Given the description of an element on the screen output the (x, y) to click on. 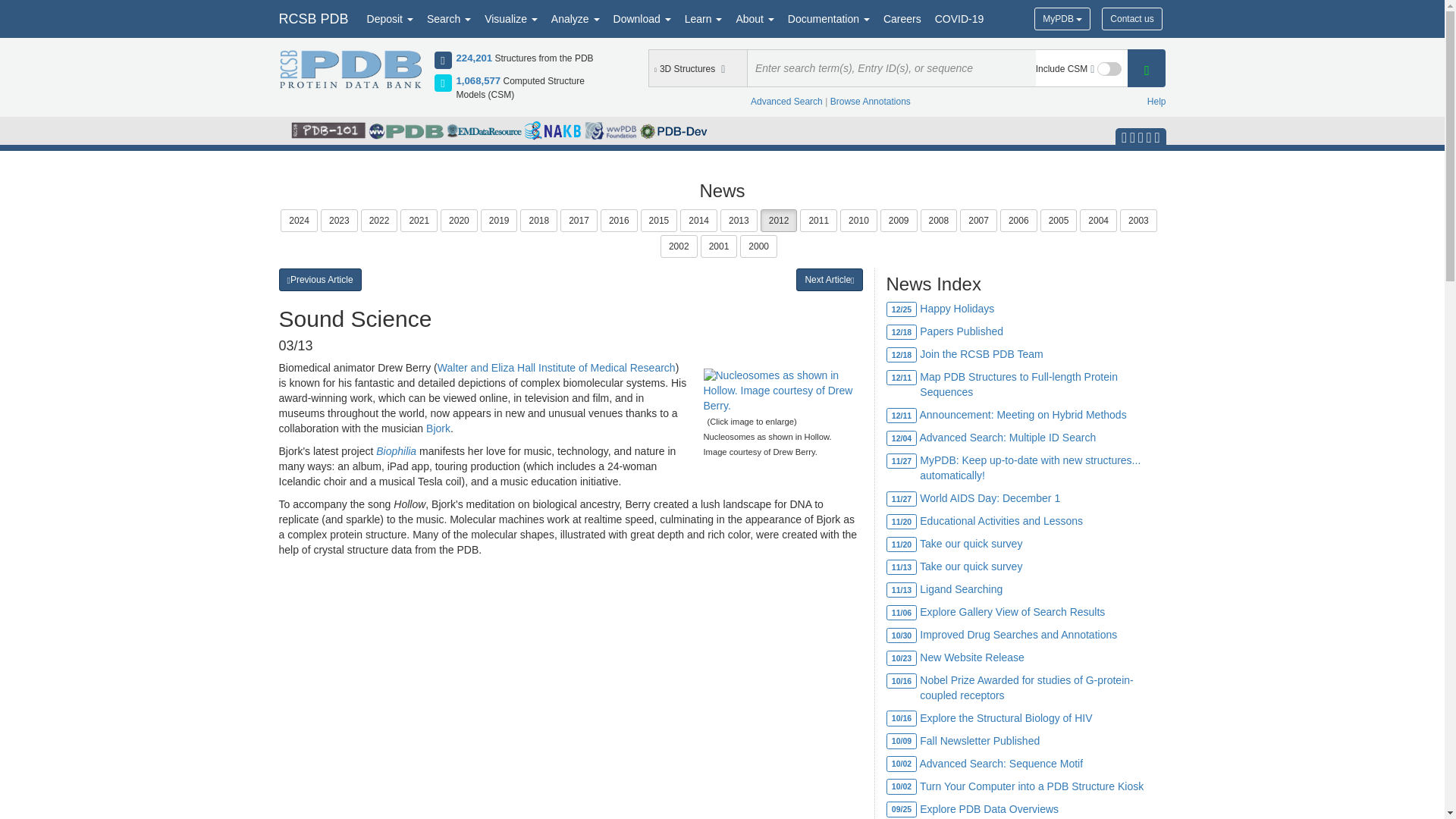
Deposit  (389, 18)
Search  (448, 18)
MyPDB (1061, 18)
RCSB PDB (312, 18)
